Given the description of an element on the screen output the (x, y) to click on. 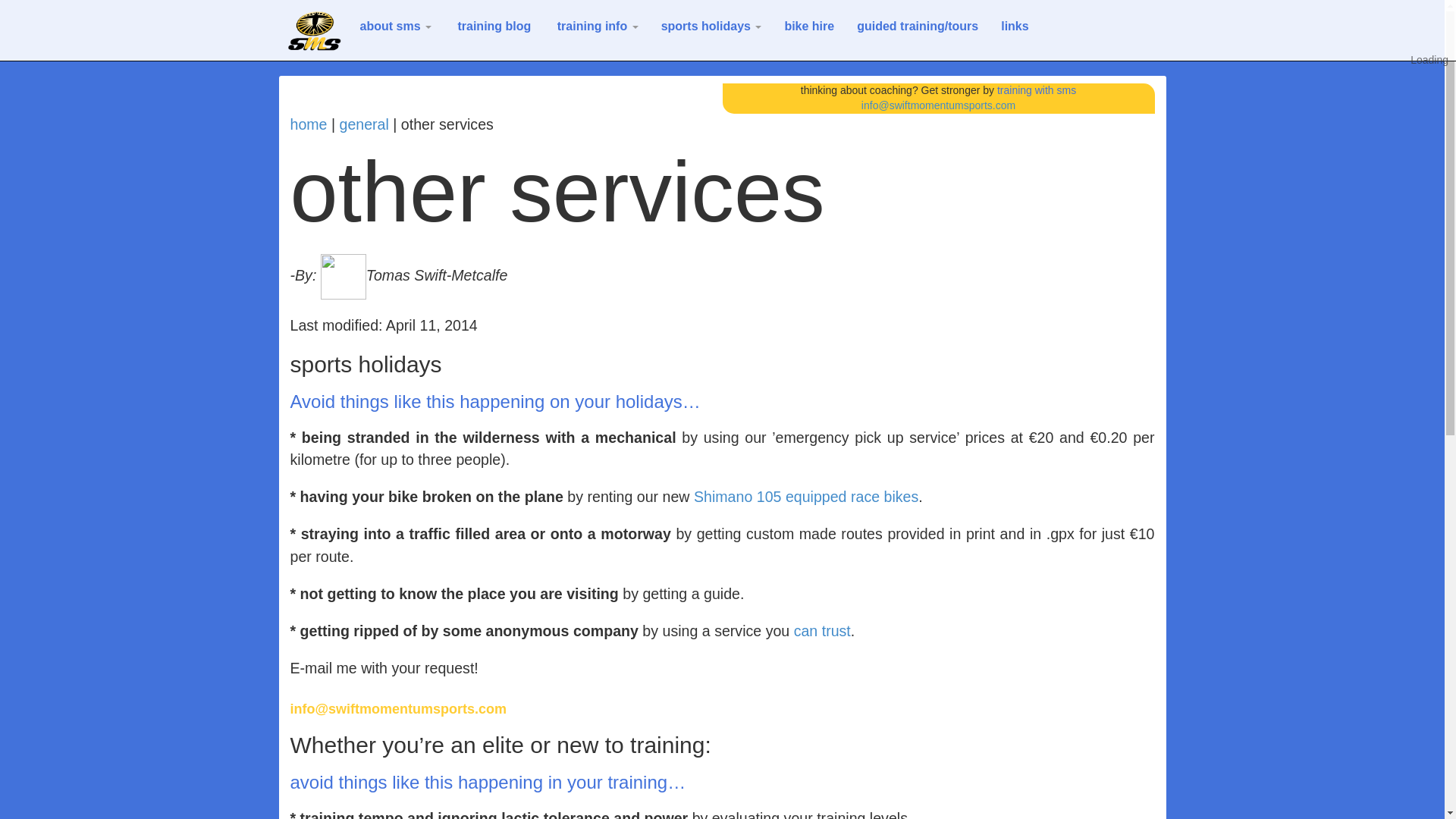
 training blog (491, 26)
general (363, 124)
Shimano 105 equipped race bikes (806, 496)
sports holidays (711, 26)
 about sms (393, 26)
training blog (491, 26)
home (307, 124)
 training info (595, 26)
training with sms (1036, 90)
training info (595, 26)
about sms (393, 26)
bike hire (809, 26)
links (1014, 26)
can trust (821, 630)
sports holidays (711, 26)
